Given the description of an element on the screen output the (x, y) to click on. 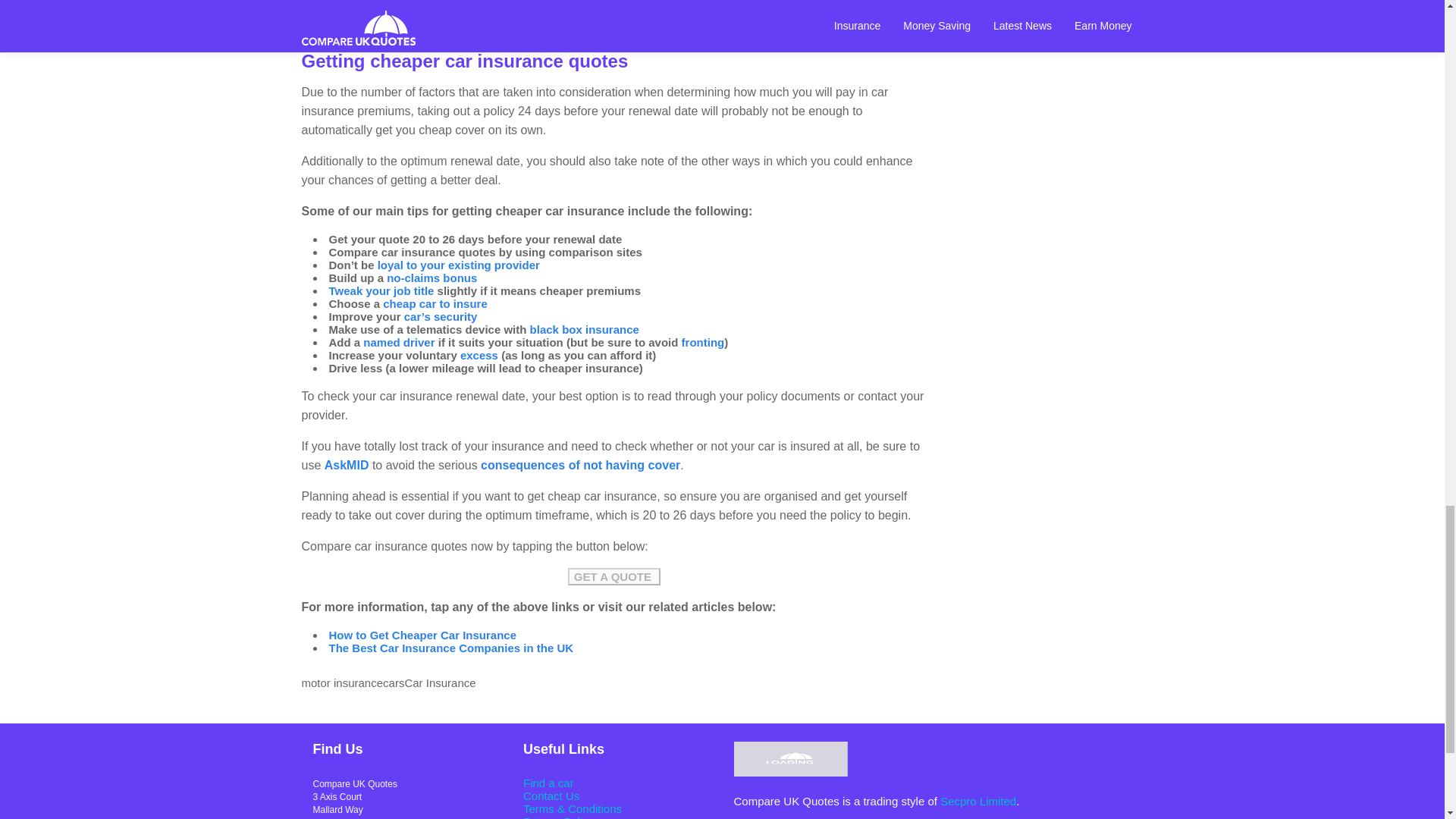
How Your Job Title Affects Your Car Insurance (505, 21)
What is car insurance excess? (478, 354)
Best cheap cars to insure in the UK (434, 303)
Named driver car insurance (397, 341)
The consequences of not having insurance (579, 464)
What is AskMID? (346, 464)
How job titles affect car insurance (381, 290)
How to Get Cheaper Car Insurance (422, 634)
What is black box insurance? (584, 328)
The Best Car Insurance Companies in the UK (451, 647)
